Given the description of an element on the screen output the (x, y) to click on. 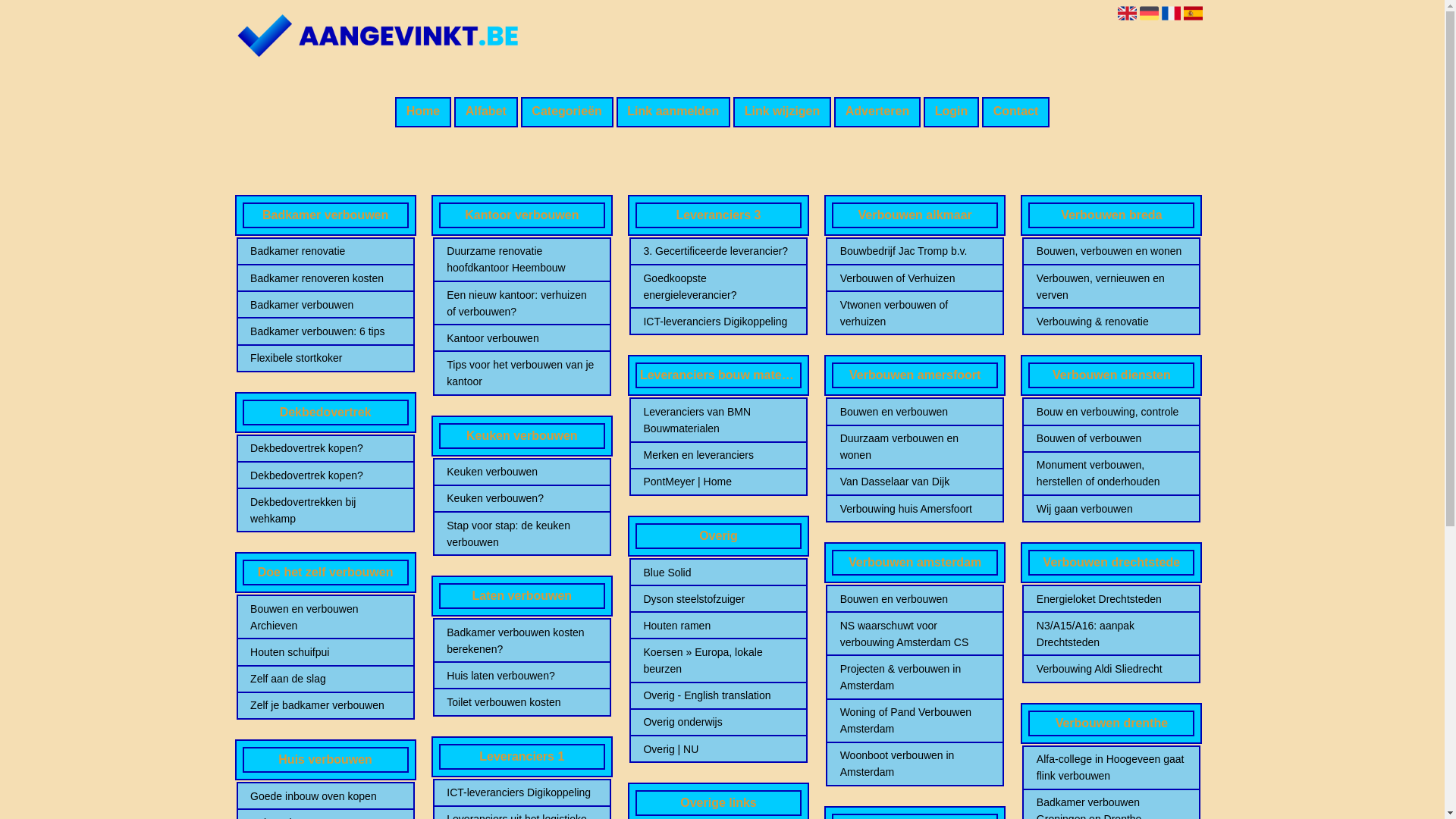
Bouwen en verbouwen Element type: text (915, 411)
Dekbedovertrekken bij wehkamp Element type: text (325, 510)
Badkamer renovatie Element type: text (325, 250)
Bouwen, verbouwen en wonen Element type: text (1111, 250)
Houten ramen Element type: text (718, 625)
Stap voor stap: de keuken verbouwen Element type: text (521, 533)
Energieloket Drechtsteden Element type: text (1111, 598)
Zelf aan de slag Element type: text (325, 678)
Projecten & verbouwen in Amsterdam Element type: text (915, 676)
Link wijzigen Element type: text (782, 112)
Bouwbedrijf Jac Tromp b.v. Element type: text (915, 250)
Woonboot verbouwen in Amsterdam Element type: text (915, 763)
Bouwen en verbouwen Archieven Element type: text (325, 616)
Verbouwing huis Amersfoort Element type: text (915, 508)
Verbouwen, vernieuwen en verven Element type: text (1111, 286)
Goedkoopste energieleverancier? Element type: text (718, 286)
Badkamer verbouwen Element type: text (325, 304)
Bouw en verbouwing, controle Element type: text (1111, 411)
Badkamer verbouwen kosten berekenen? Element type: text (521, 640)
Tips voor het verbouwen van je kantoor Element type: text (521, 372)
N3/A15/A16: aanpak Drechtsteden Element type: text (1111, 633)
Bouwen en verbouwen Element type: text (915, 598)
Duurzame renovatie hoofdkantoor Heembouw Element type: text (521, 259)
Home Element type: text (423, 112)
Woning of Pand Verbouwen Amsterdam Element type: text (915, 720)
Flexibele stortkoker Element type: text (325, 357)
Zelf je badkamer verbouwen Element type: text (325, 704)
Dyson steelstofzuiger Element type: text (718, 598)
Dekbedovertrek kopen? Element type: text (325, 447)
Monument verbouwen, herstellen of onderhouden Element type: text (1111, 472)
Duurzaam verbouwen en wonen Element type: text (915, 446)
Login Element type: text (951, 112)
Alfa-college in Hoogeveen gaat flink verbouwen Element type: text (1111, 767)
ICT-leveranciers Digikoppeling Element type: text (521, 792)
Overig - English translation Element type: text (718, 695)
Merken en leveranciers Element type: text (718, 454)
Houten schuifpui Element type: text (325, 651)
Adverteren Element type: text (877, 112)
Verbouwing & renovatie Element type: text (1111, 321)
Verbouwing Aldi Sliedrecht Element type: text (1111, 668)
Keuken verbouwen? Element type: text (521, 497)
Blue Solid Element type: text (718, 572)
Link aanmelden Element type: text (672, 112)
Verbouwen of Verhuizen Element type: text (915, 277)
PontMeyer | Home Element type: text (718, 481)
Wij gaan verbouwen Element type: text (1111, 508)
Overig | NU Element type: text (718, 748)
NS waarschuwt voor verbouwing Amsterdam CS Element type: text (915, 633)
Een nieuw kantoor: verhuizen of verbouwen? Element type: text (521, 303)
Bouwen of verbouwen Element type: text (1111, 437)
Contact Element type: text (1015, 112)
Kantoor verbouwen Element type: text (521, 337)
Dekbedovertrek kopen? Element type: text (325, 475)
Van Dasselaar van Dijk Element type: text (915, 481)
3. Gecertificeerde leverancier? Element type: text (718, 250)
Keuken verbouwen Element type: text (521, 471)
Alfabet Element type: text (485, 112)
Overig onderwijs Element type: text (718, 721)
Leveranciers van BMN Bouwmaterialen Element type: text (718, 419)
Huis laten verbouwen? Element type: text (521, 675)
ICT-leveranciers Digikoppeling Element type: text (718, 321)
Vtwonen verbouwen of verhuizen Element type: text (915, 312)
Toilet verbouwen kosten Element type: text (521, 701)
Goede inbouw oven kopen Element type: text (325, 795)
Badkamer verbouwen: 6 tips Element type: text (325, 331)
Badkamer renoveren kosten Element type: text (325, 277)
